Given the description of an element on the screen output the (x, y) to click on. 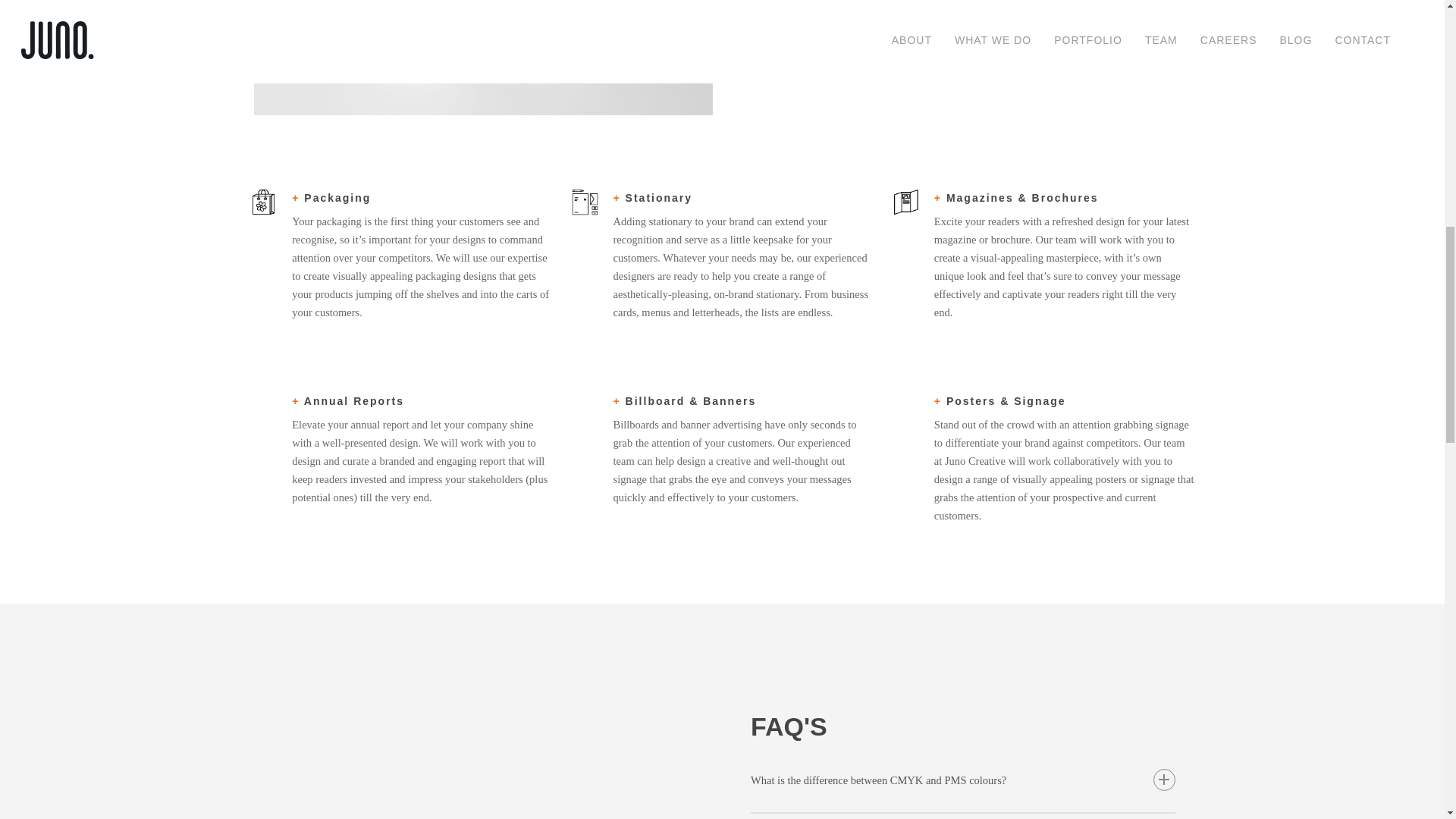
What is the difference between CMYK and PMS colours? (962, 780)
Print Design Juno (483, 57)
REQUEST A QUOTE (825, 67)
What is the difference between digital and offset printing? (962, 816)
